Given the description of an element on the screen output the (x, y) to click on. 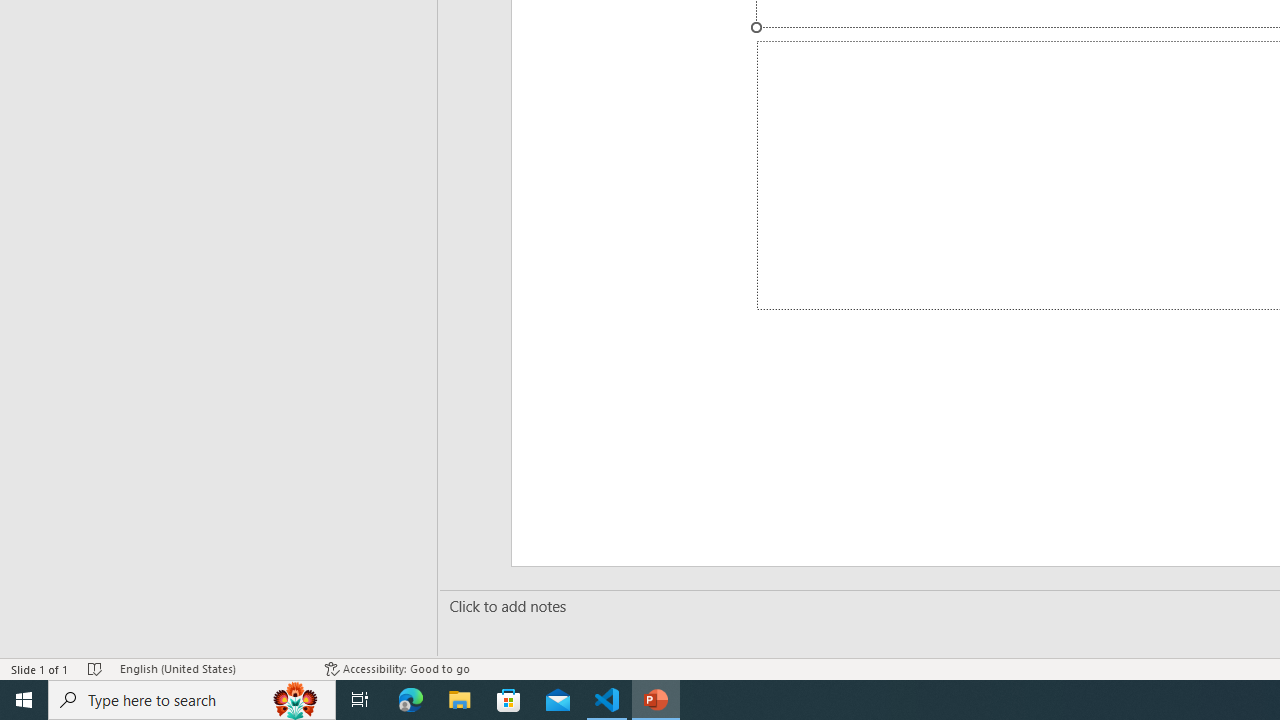
Accessibility Checker Accessibility: Good to go (397, 668)
